Given the description of an element on the screen output the (x, y) to click on. 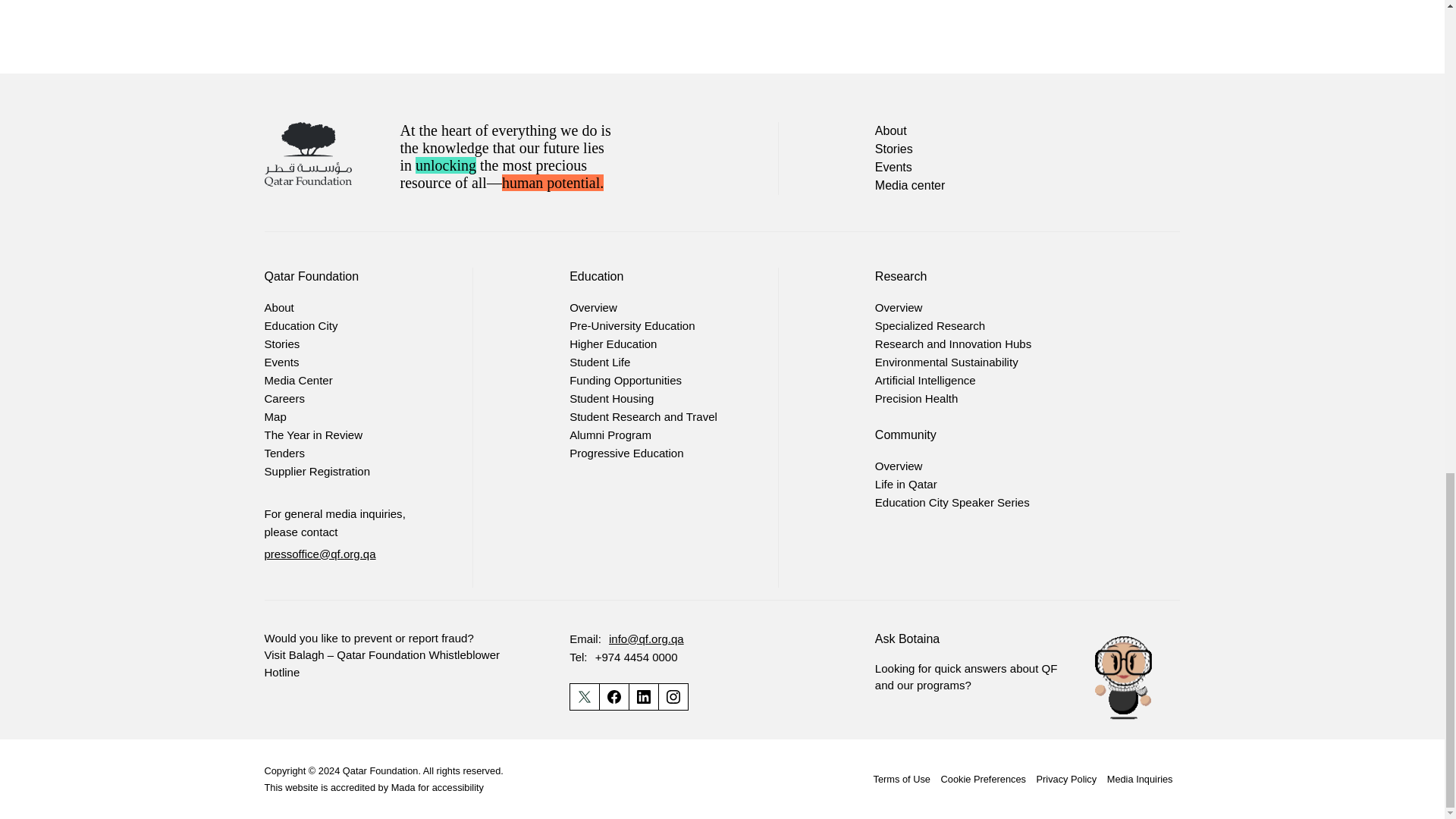
Qatar Foundation Linkedin Page (643, 696)
Qatar Foundation Twitter Page (583, 696)
Qatar Foundation Facebook Page (613, 696)
Qatar Foundation Instagram Profile (673, 696)
Instagram (672, 696)
LinkedIn (643, 696)
Facebook (614, 696)
